Given the description of an element on the screen output the (x, y) to click on. 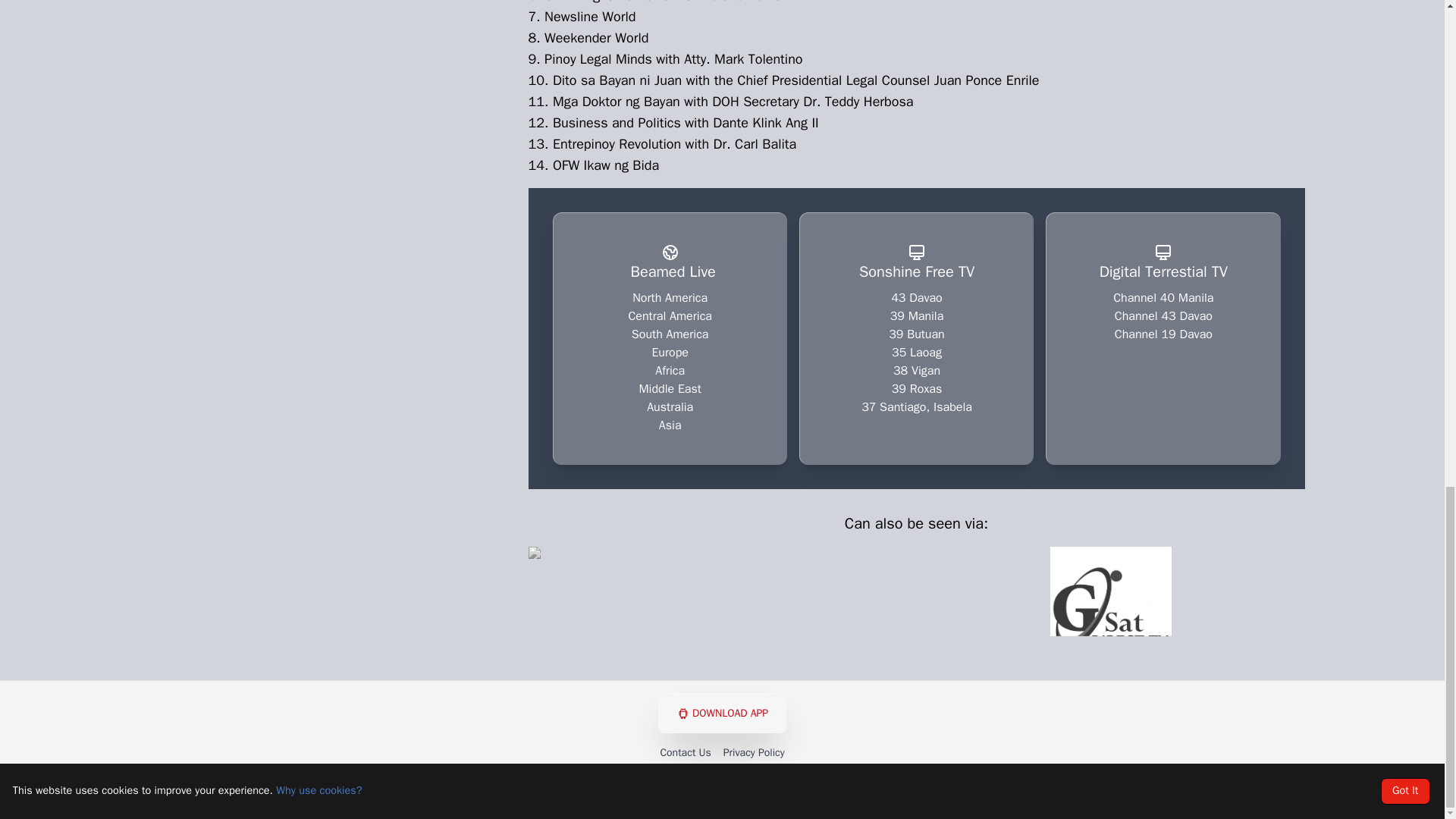
Privacy Policy (753, 752)
DOWNLOAD APP (722, 712)
Contact Us (684, 752)
